Given the description of an element on the screen output the (x, y) to click on. 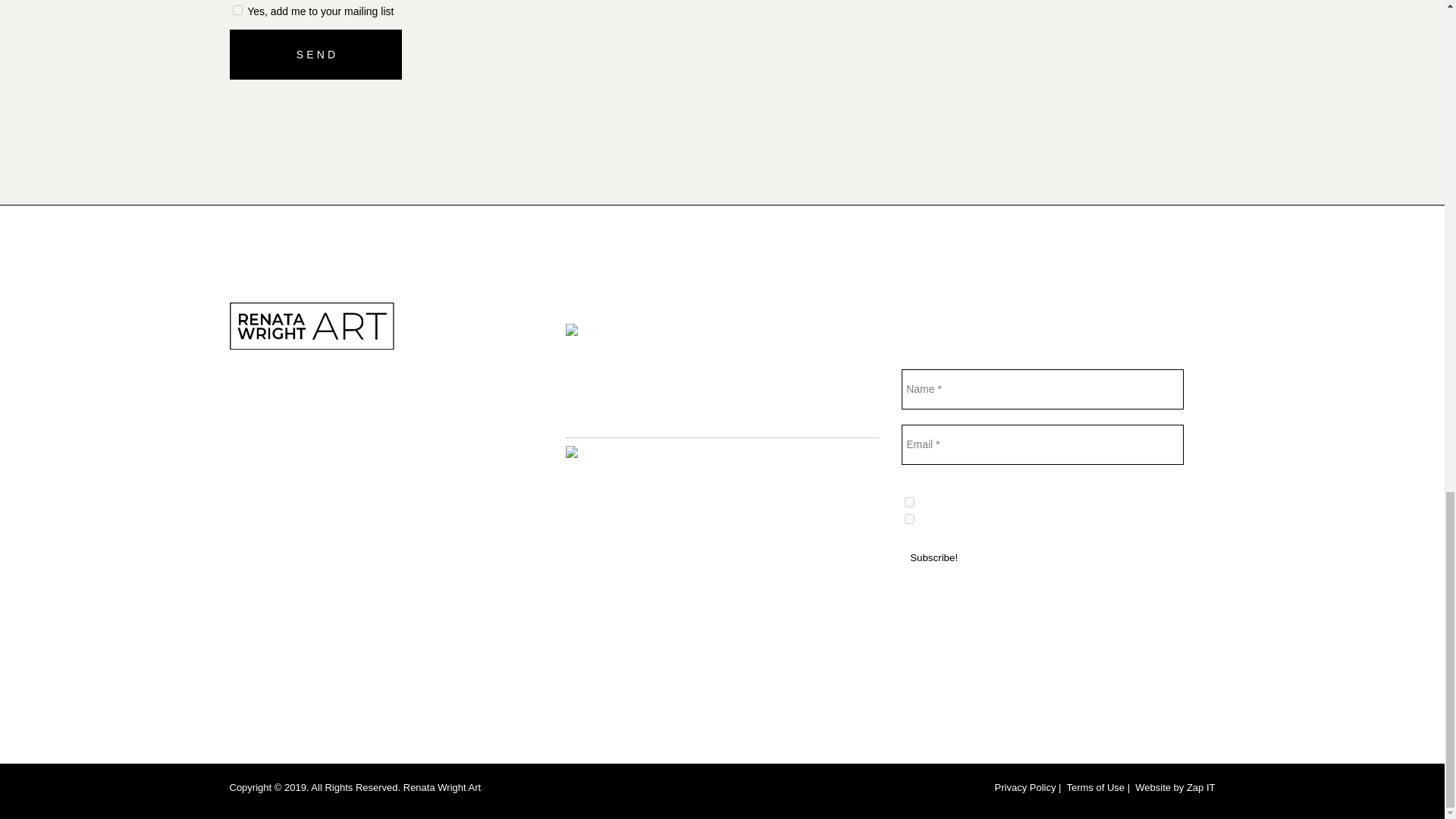
Check out my Redbubble page (639, 333)
Check out my Redbubble page (778, 342)
3 (909, 501)
Why I prefer face-to-face teaching and learning (830, 651)
Email (1042, 445)
Subscribe! (933, 557)
5 (909, 519)
Check out my Redbubble page (830, 419)
1 (236, 9)
Why I prefer face-to-face teaching and learning (836, 483)
